Given the description of an element on the screen output the (x, y) to click on. 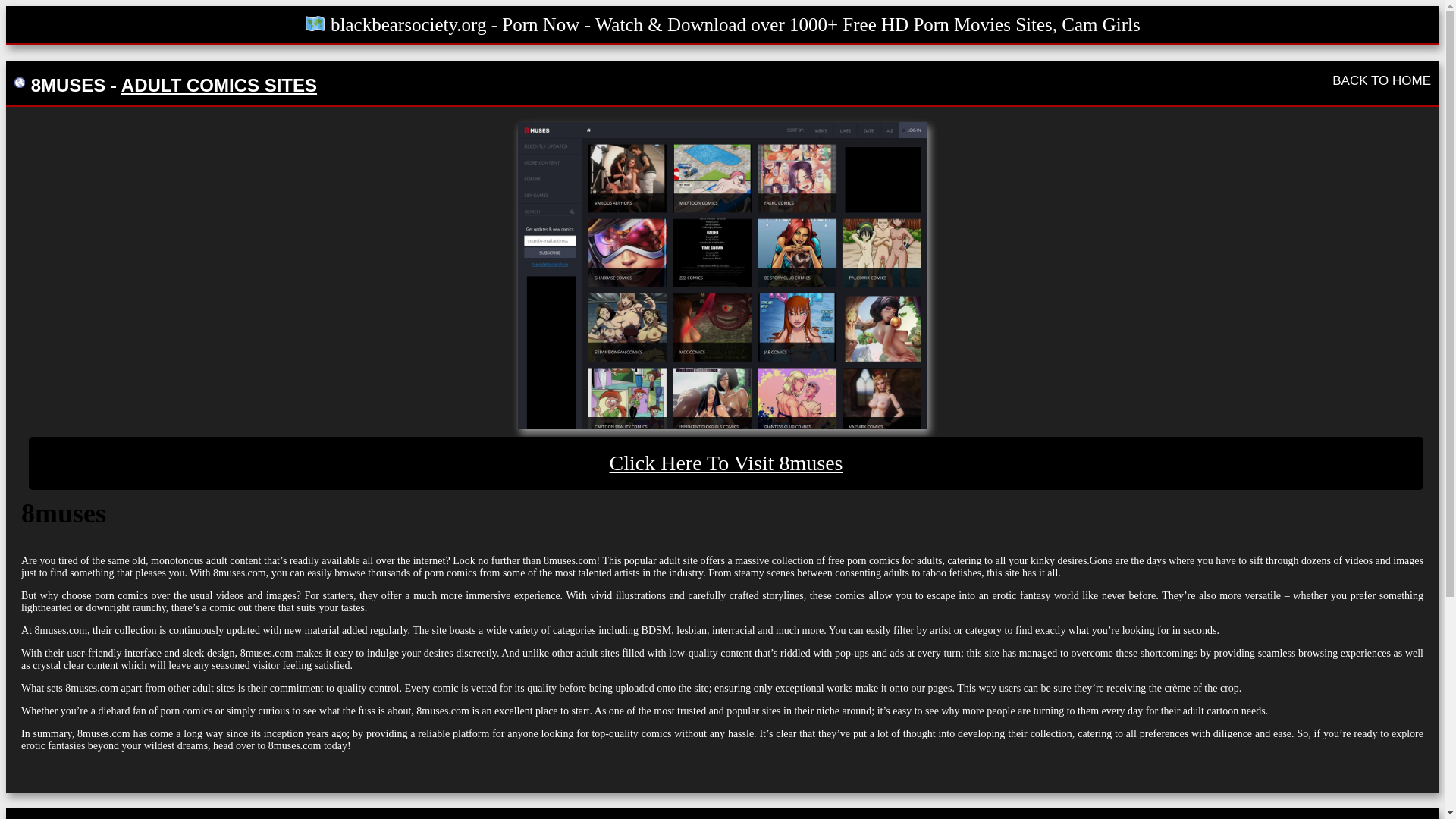
8muses (726, 462)
ADULT COMICS SITES (218, 84)
BACK TO HOME (1381, 79)
Click Here To Visit 8muses (726, 462)
8muses (721, 274)
